Given the description of an element on the screen output the (x, y) to click on. 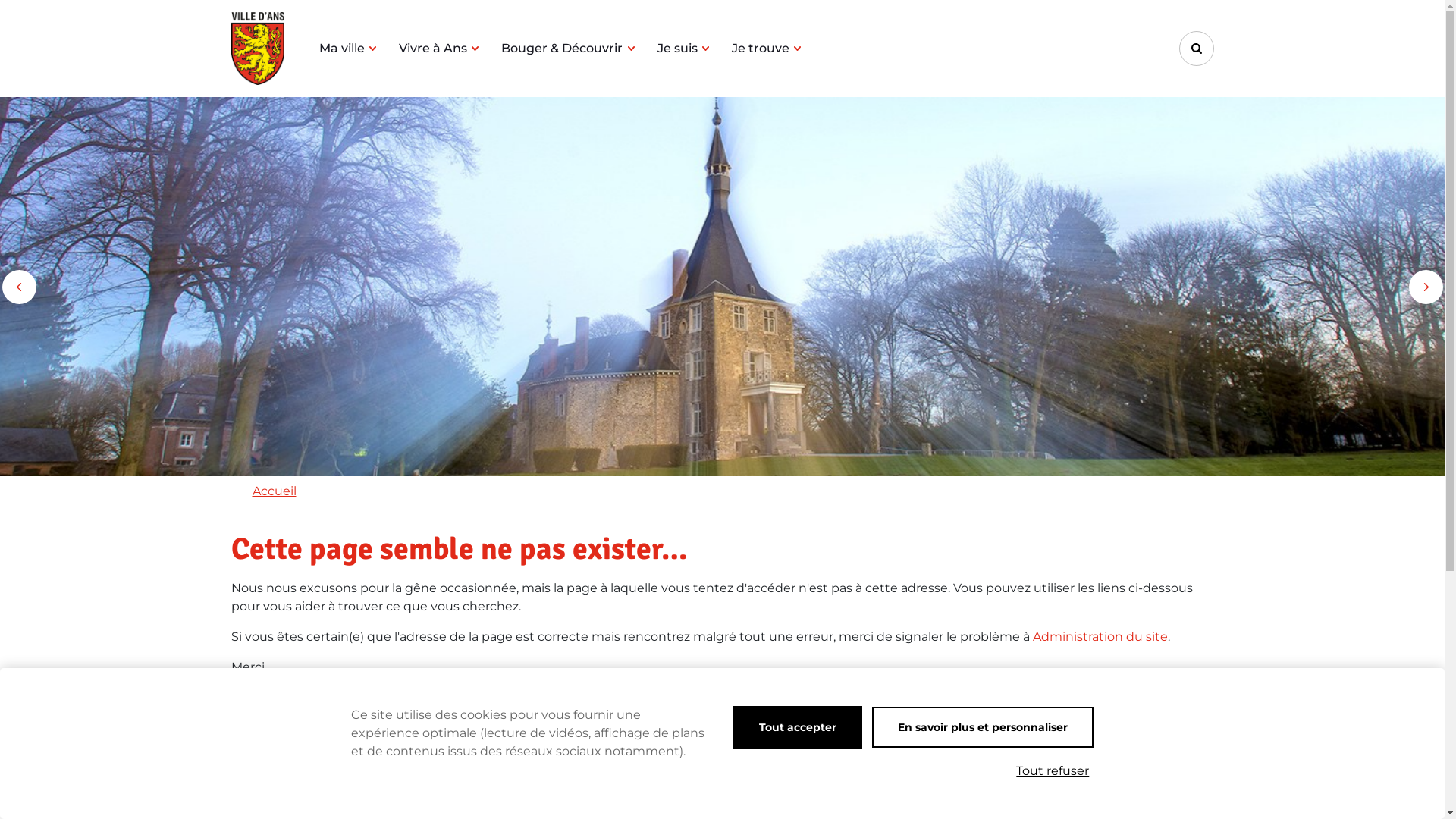
242 - novembre.pdf Element type: text (289, 787)
Administration du site Element type: text (1099, 636)
Rechercher Element type: text (1195, 48)
Accueil Element type: text (273, 490)
257 - juillet.pdf Element type: text (273, 805)
Je trouve Element type: text (765, 48)
Je suis Element type: text (683, 48)
Tout refuser Element type: text (1052, 771)
Ma ville Element type: text (346, 48)
FEDER Element type: text (251, 769)
En savoir plus et personnaliser Element type: text (982, 726)
Tout accepter Element type: text (797, 727)
Ville d'Ans Element type: hover (256, 48)
